Given the description of an element on the screen output the (x, y) to click on. 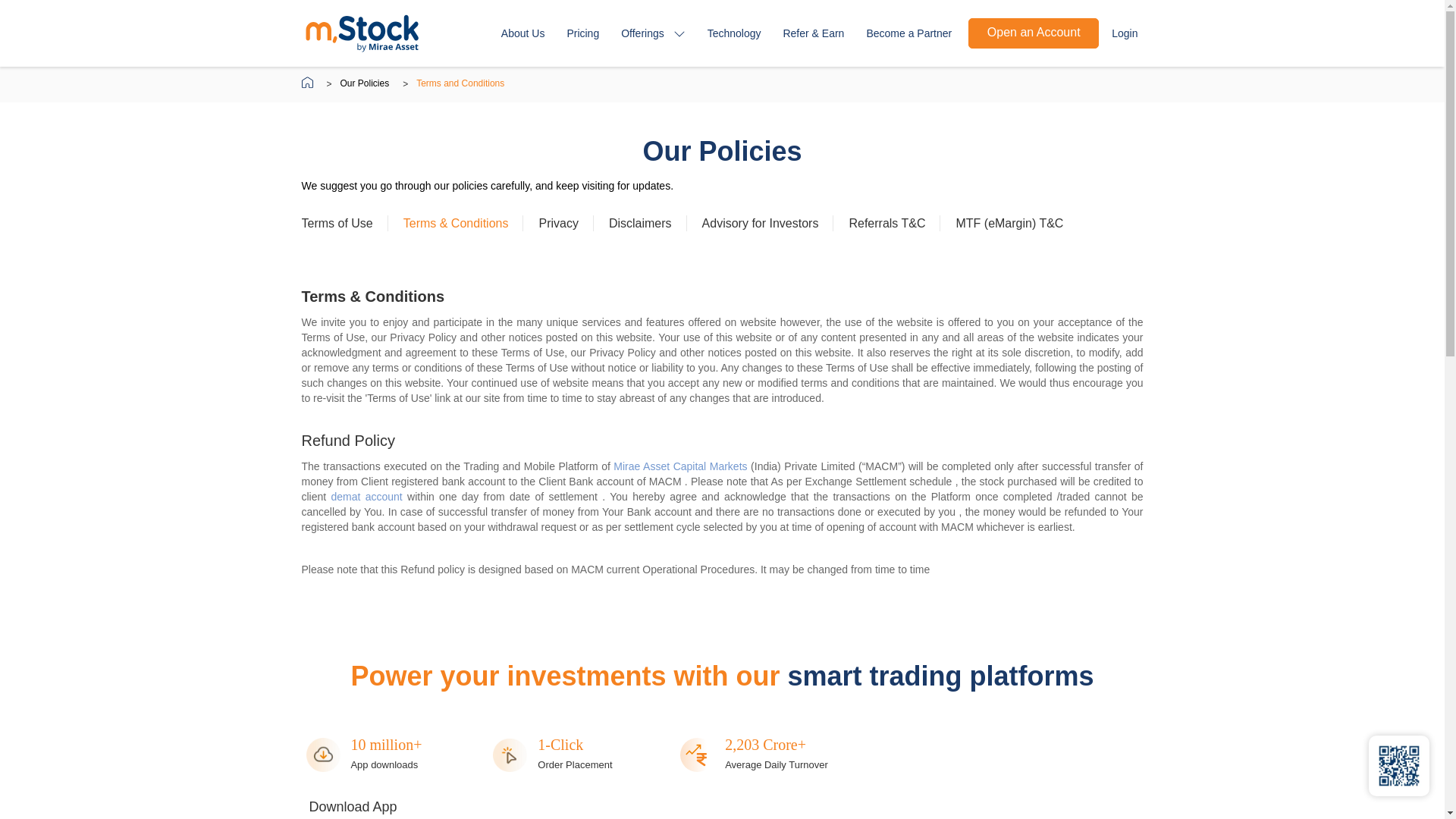
Refunf Policy of Online Demat Account (368, 496)
Pricing (582, 33)
Privacy (558, 223)
Technology (734, 33)
Mirae Asset Capital Markets Policy (681, 466)
Offerings (652, 33)
About Us (523, 33)
Advisory for Investors (759, 223)
Open an Account (1033, 33)
Terms of Use (336, 223)
